Given the description of an element on the screen output the (x, y) to click on. 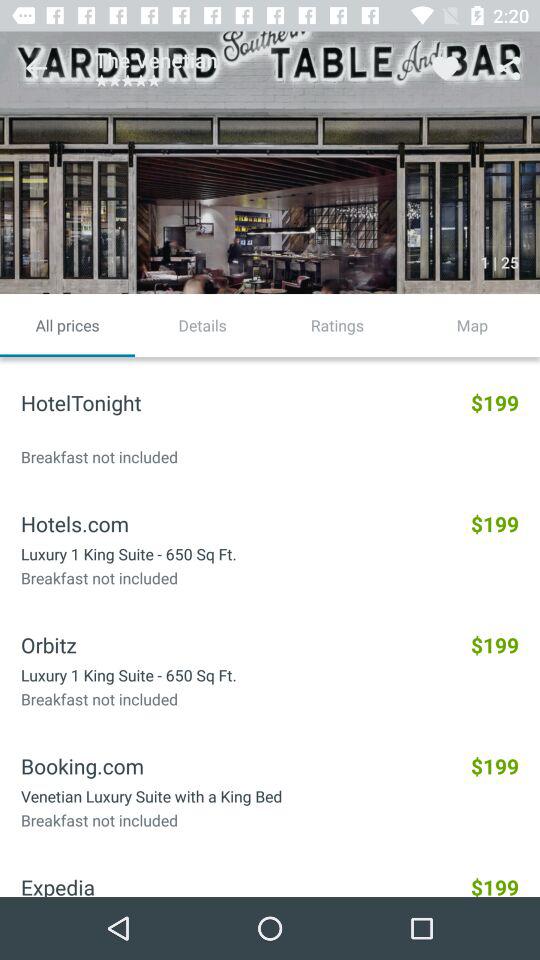
turn off item to the right of the the venetian (444, 67)
